Given the description of an element on the screen output the (x, y) to click on. 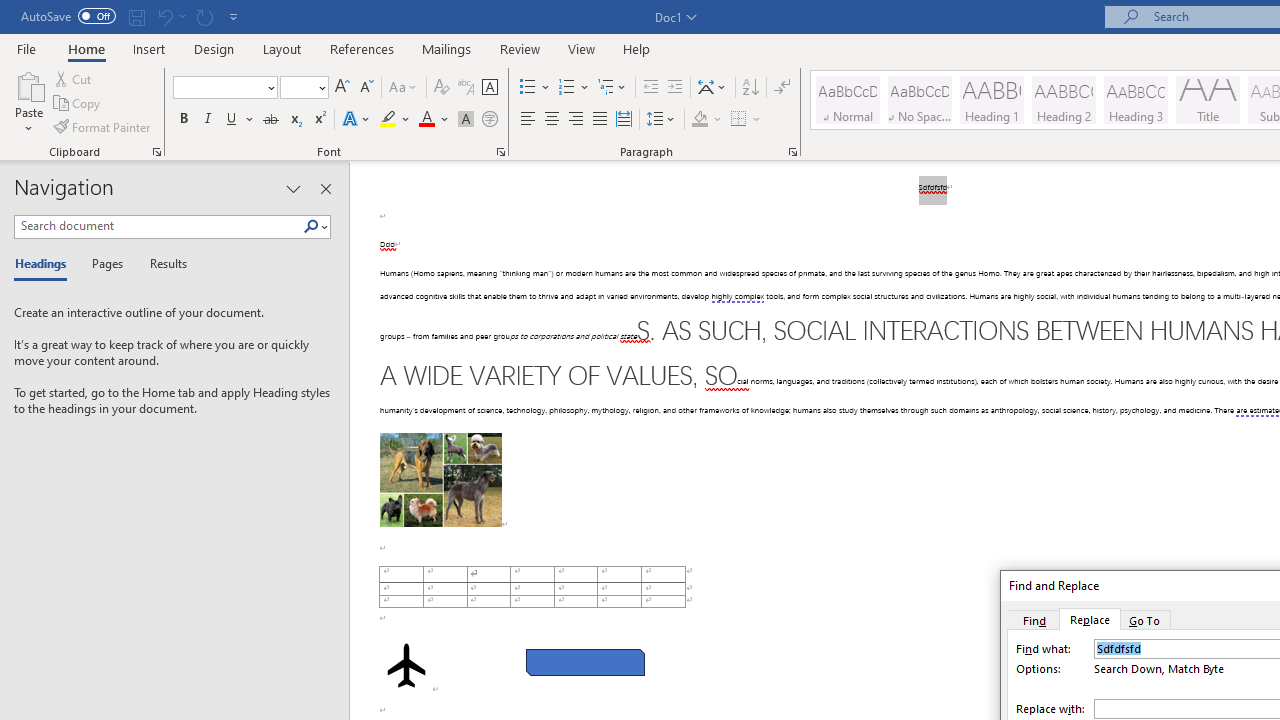
Increase Indent (675, 87)
Go To (1145, 619)
Phonetic Guide... (465, 87)
Asian Layout (712, 87)
Superscript (319, 119)
